Given the description of an element on the screen output the (x, y) to click on. 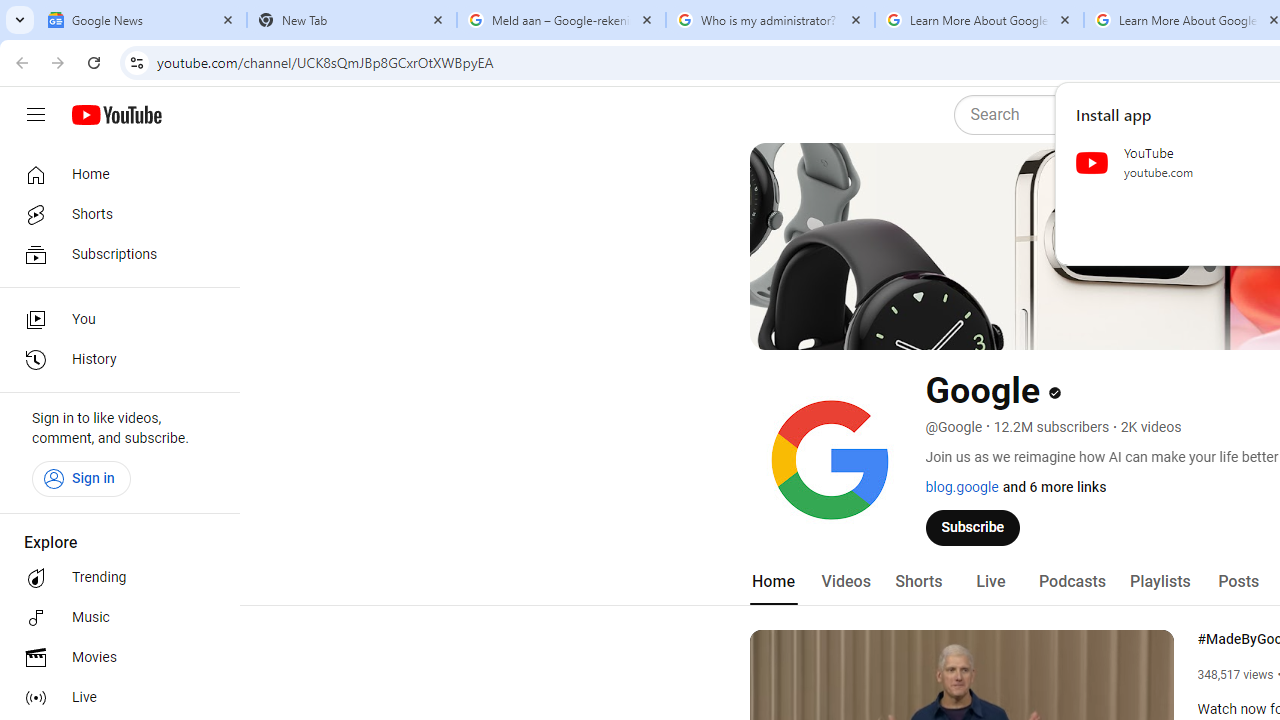
Trending (113, 578)
Shorts (113, 214)
Music (113, 617)
Subscriptions (113, 254)
History (113, 359)
Posts (1238, 581)
blog.google (961, 487)
New Tab (351, 20)
